Given the description of an element on the screen output the (x, y) to click on. 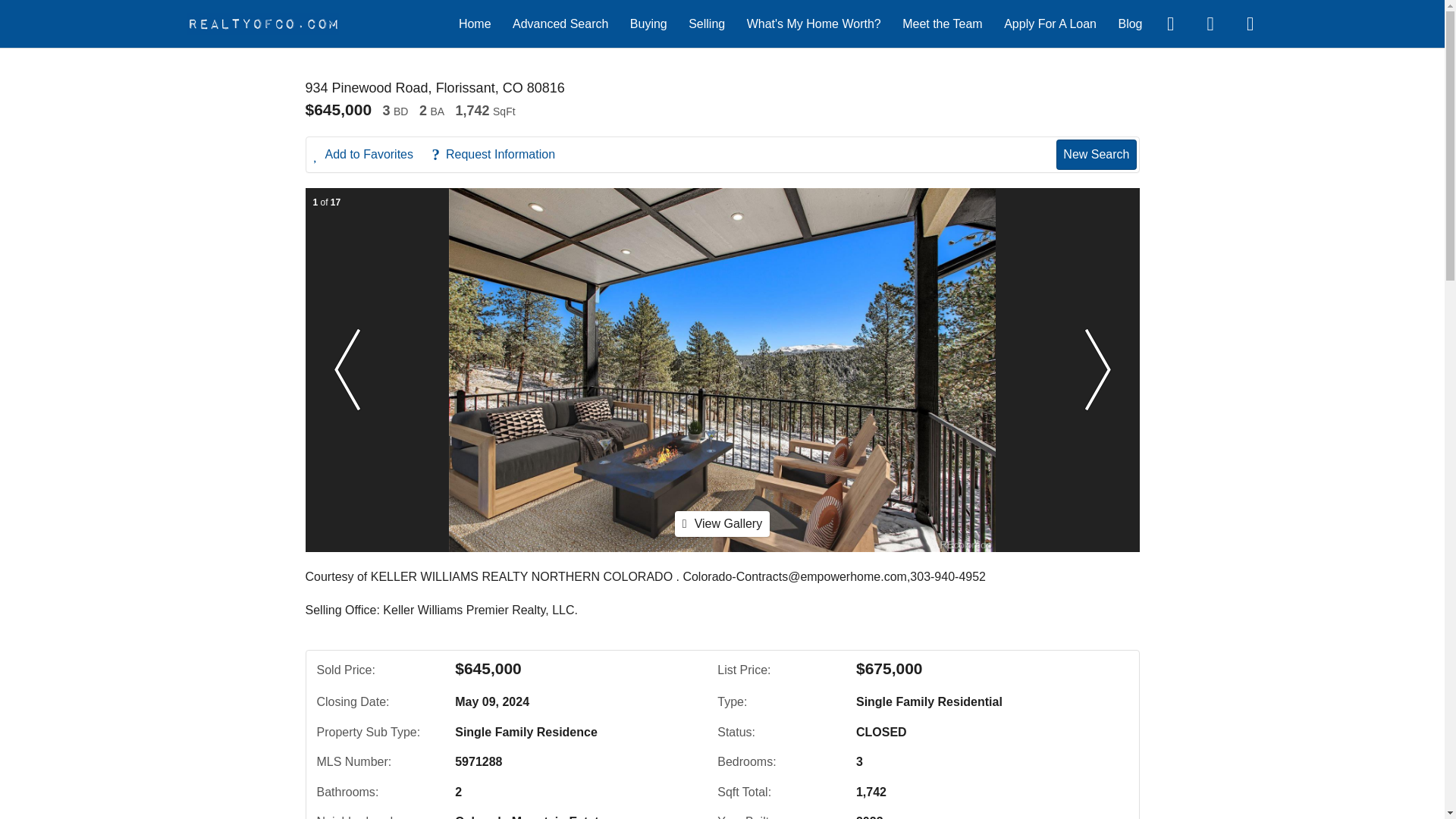
View Gallery (722, 524)
What's My Home Worth? (813, 23)
Home (475, 23)
Buying (648, 23)
Blog (1129, 23)
Request Information (500, 154)
Advanced Search (560, 23)
Add to Favorites (371, 154)
Apply For A Loan (1050, 23)
Meet the Team (942, 23)
Selling (706, 23)
New Search (1096, 154)
View Gallery (722, 522)
